Given the description of an element on the screen output the (x, y) to click on. 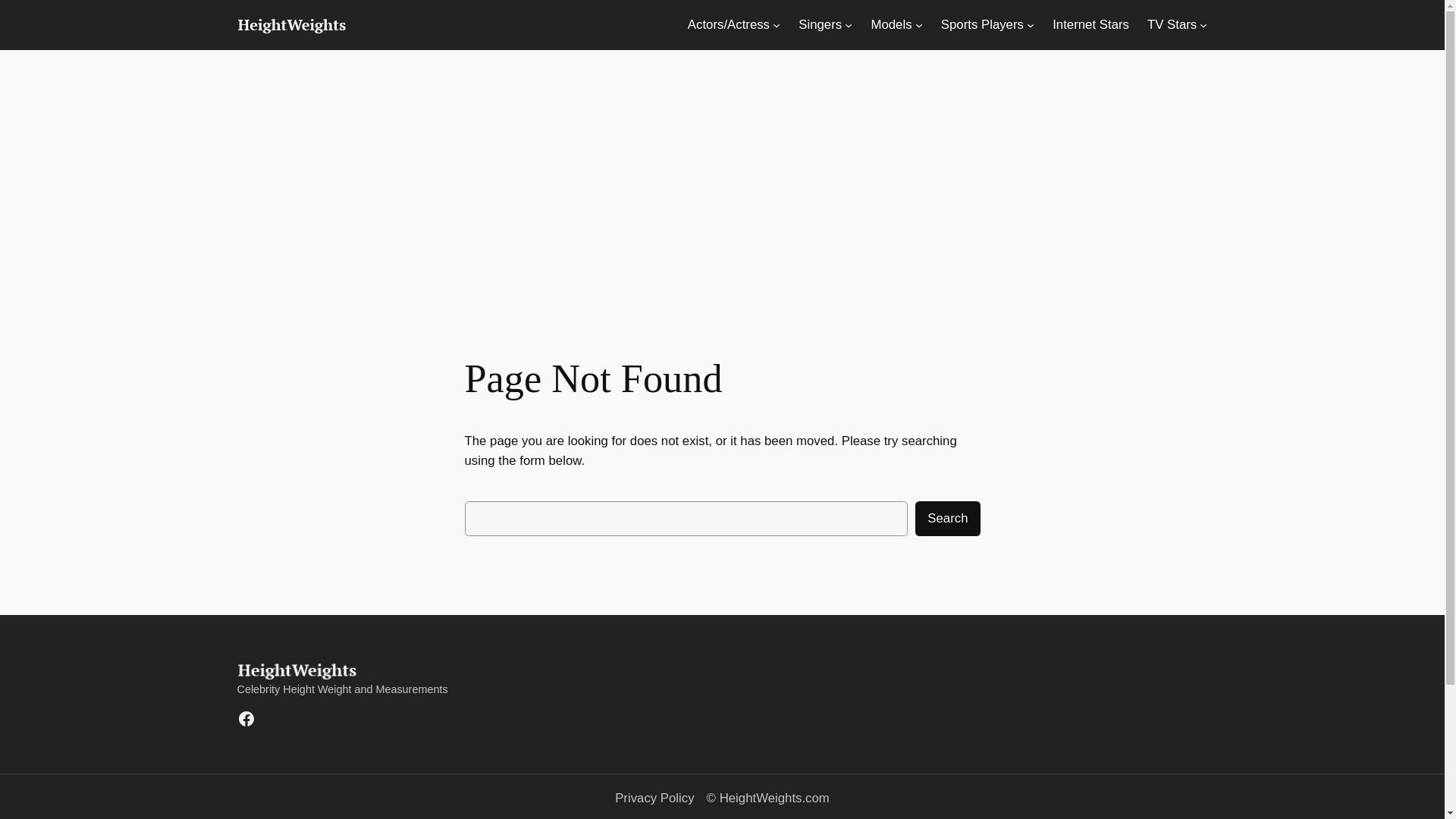
Search (947, 518)
TV Stars (1171, 25)
Singers (819, 25)
Sports Players (981, 25)
Models (890, 25)
Internet Stars (1090, 25)
Privacy Policy (654, 798)
Facebook (244, 719)
